Given the description of an element on the screen output the (x, y) to click on. 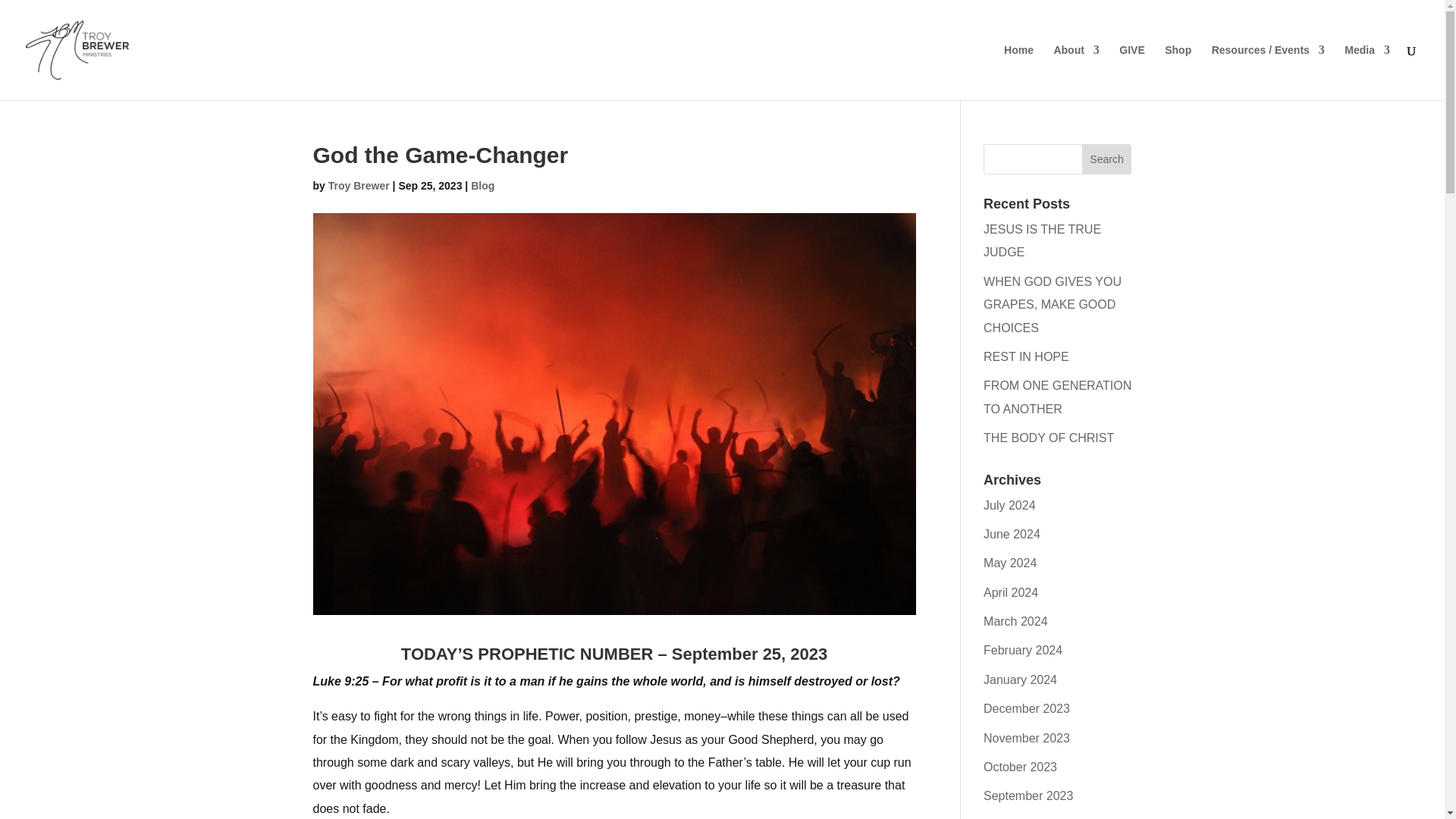
Search (1106, 159)
Posts by Troy Brewer (359, 185)
